Given the description of an element on the screen output the (x, y) to click on. 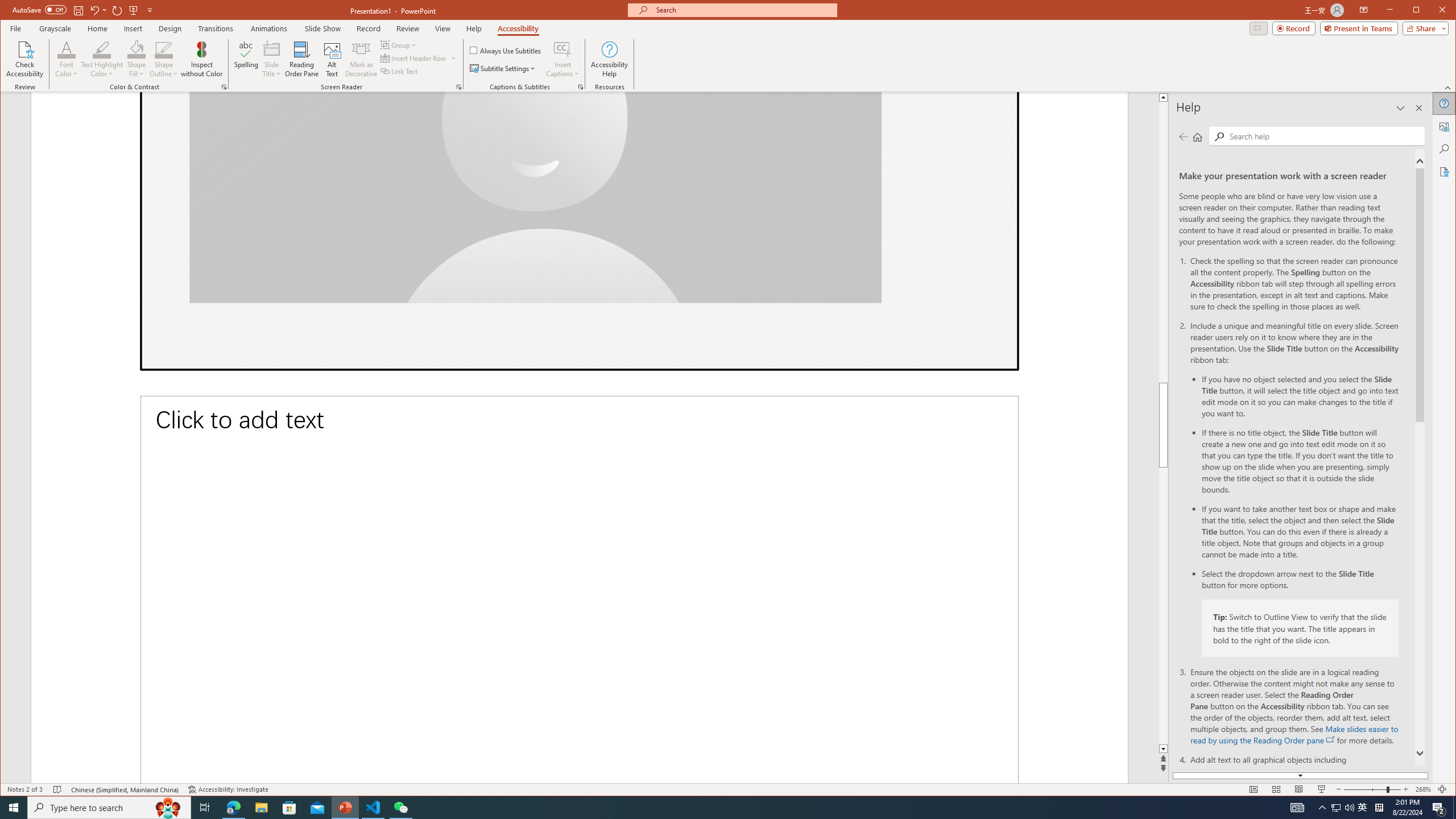
Zoom 268% (1422, 789)
